Given the description of an element on the screen output the (x, y) to click on. 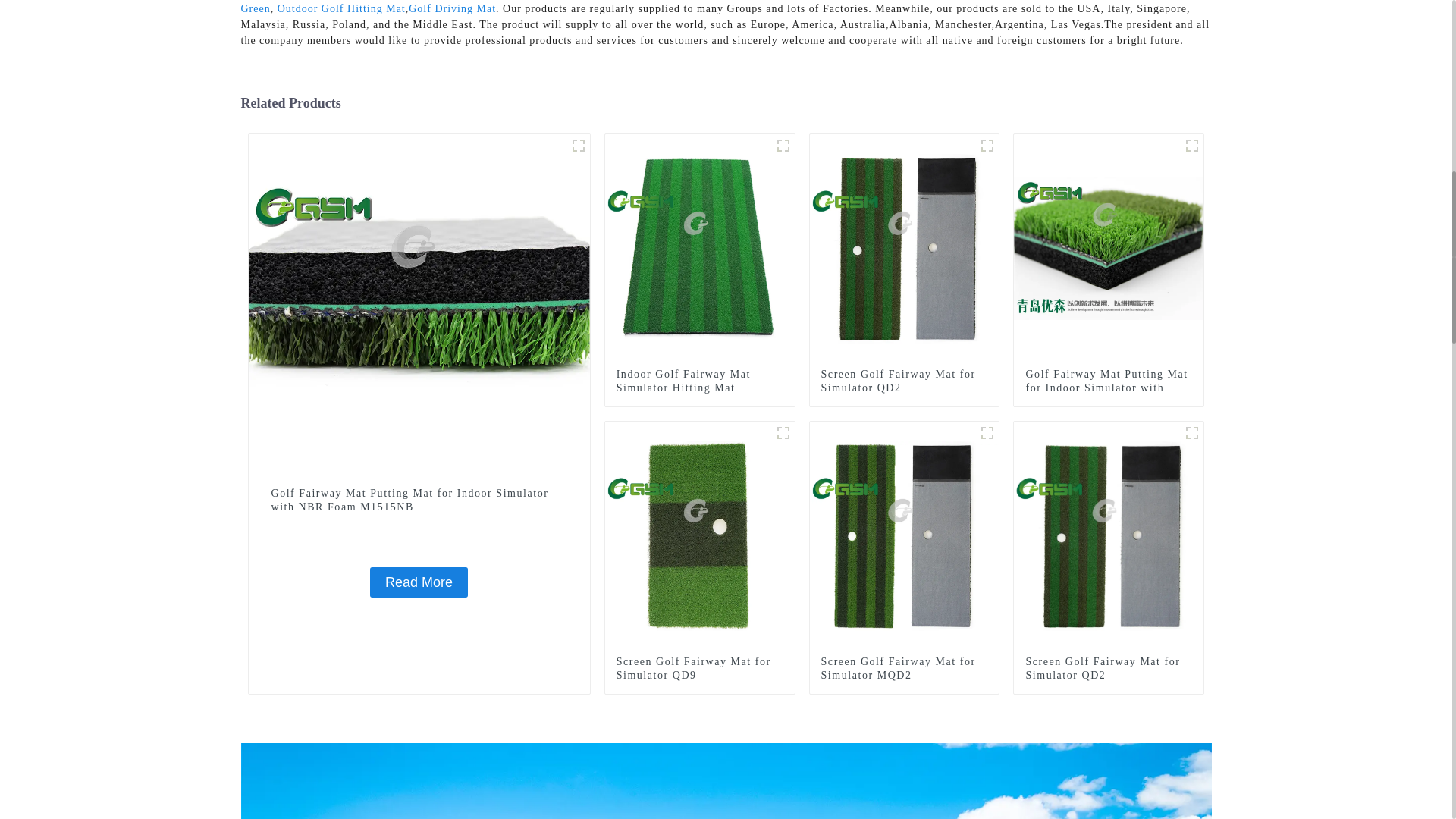
Screen Golf Fairway Mat for Simulator QD2 (904, 380)
Read More (418, 582)
1 (782, 432)
Golf Driving Mat (452, 8)
Grass Floor Mat Putting Green (723, 7)
1 (986, 145)
Indoor Golf Fairway Mat Simulator Hitting Mat QDCR1515B (699, 247)
Screen Golf Fairway Mat for Simulator QD2 (903, 247)
